Given the description of an element on the screen output the (x, y) to click on. 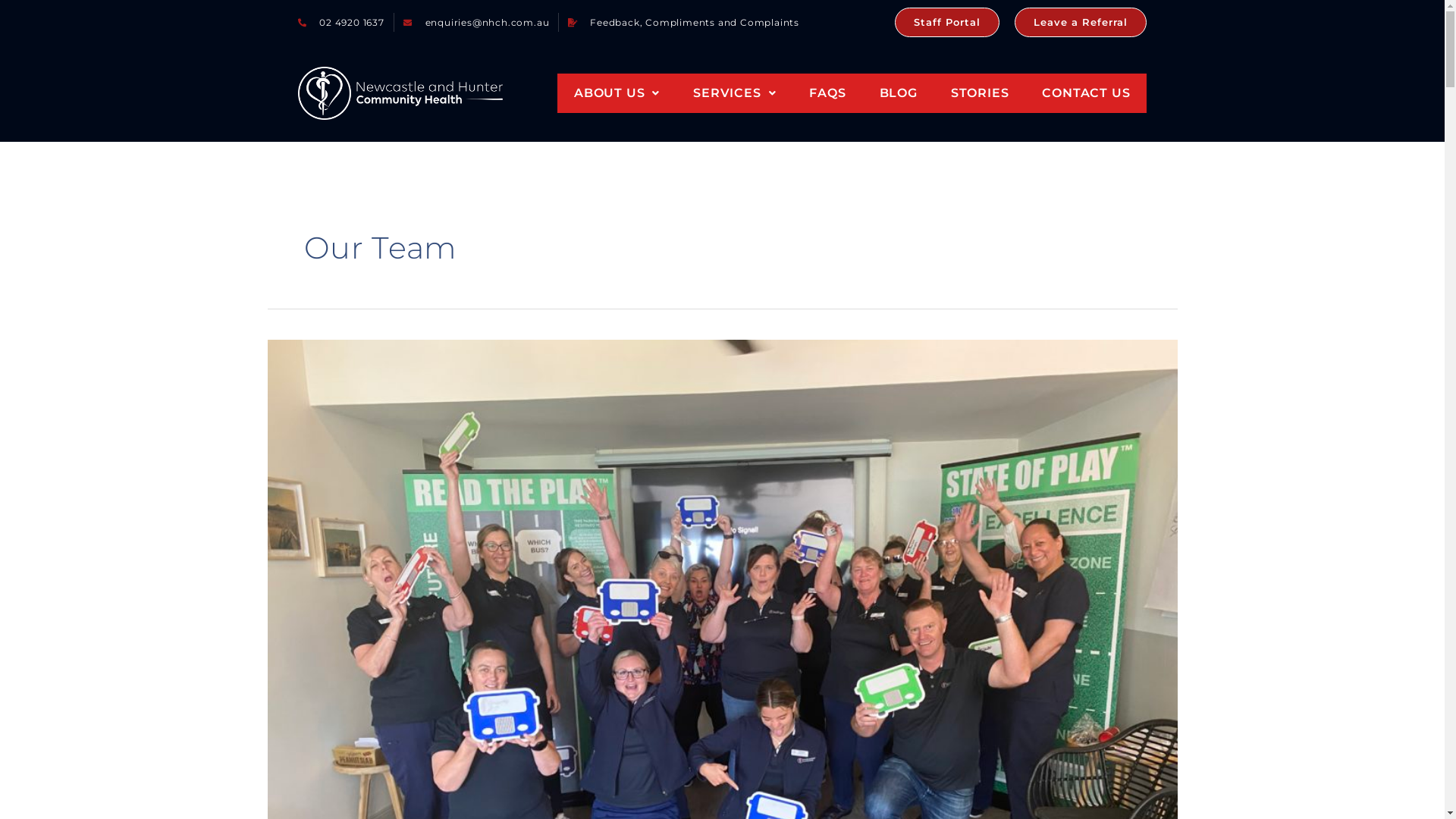
FAQS Element type: text (827, 92)
STORIES Element type: text (980, 92)
Feedback, Compliments and Complaints Element type: text (683, 22)
SERVICES Element type: text (734, 92)
ABOUT US Element type: text (616, 92)
Leave a Referral Element type: text (1080, 22)
CONTACT US Element type: text (1085, 92)
BLOG Element type: text (898, 92)
Staff Portal Element type: text (946, 22)
enquiries@nhch.com.au Element type: text (476, 22)
02 4920 1637 Element type: text (340, 22)
